Given the description of an element on the screen output the (x, y) to click on. 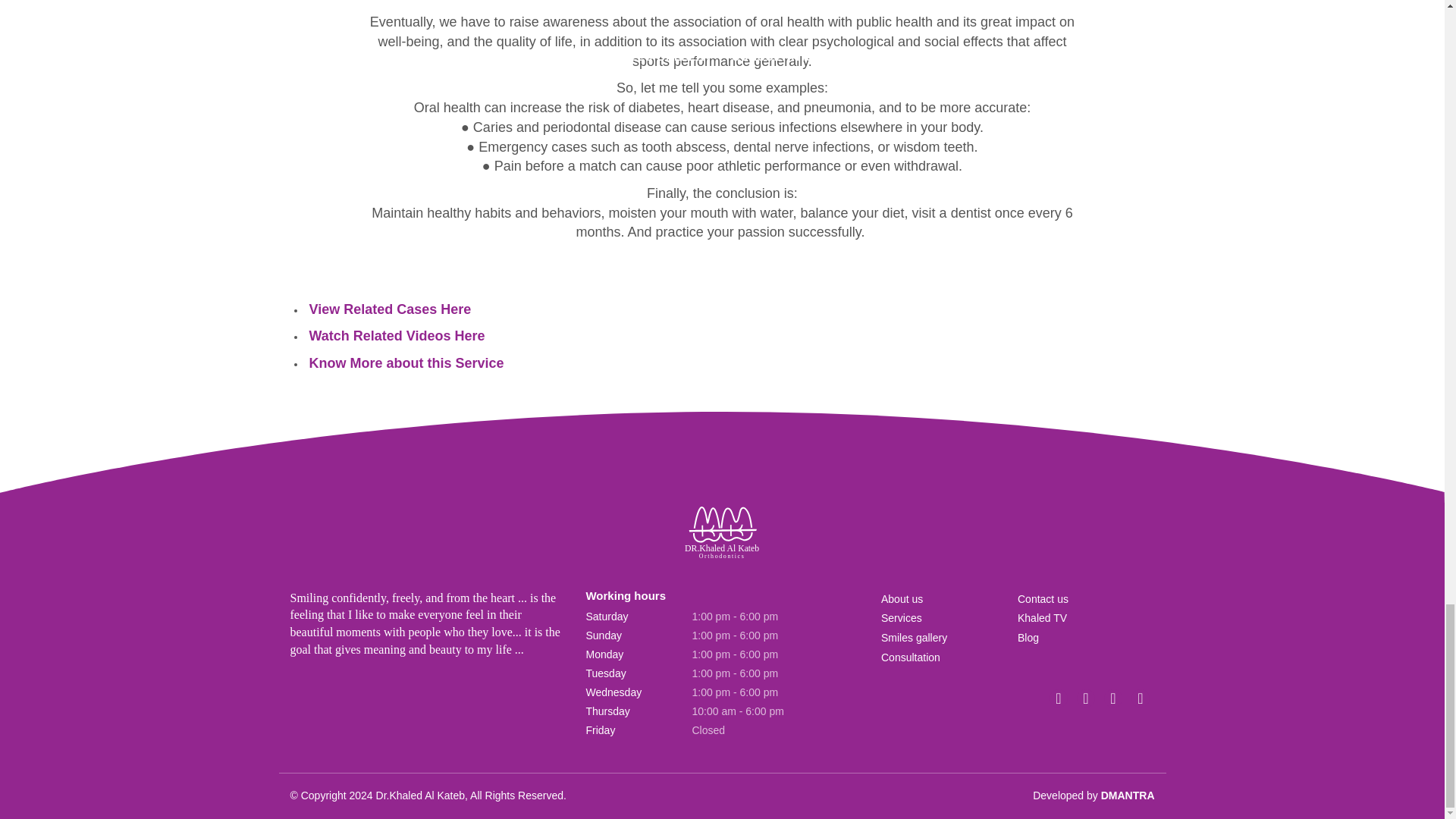
View Related Cases Here (389, 309)
Smiles gallery (913, 638)
DMANTRA (1127, 795)
Contact us (1042, 599)
Know More about this Service (405, 363)
Services (900, 618)
Watch Related Videos Here (395, 336)
Consultation (910, 658)
Khaled TV (1042, 618)
About us (901, 599)
Blog (1028, 638)
